Given the description of an element on the screen output the (x, y) to click on. 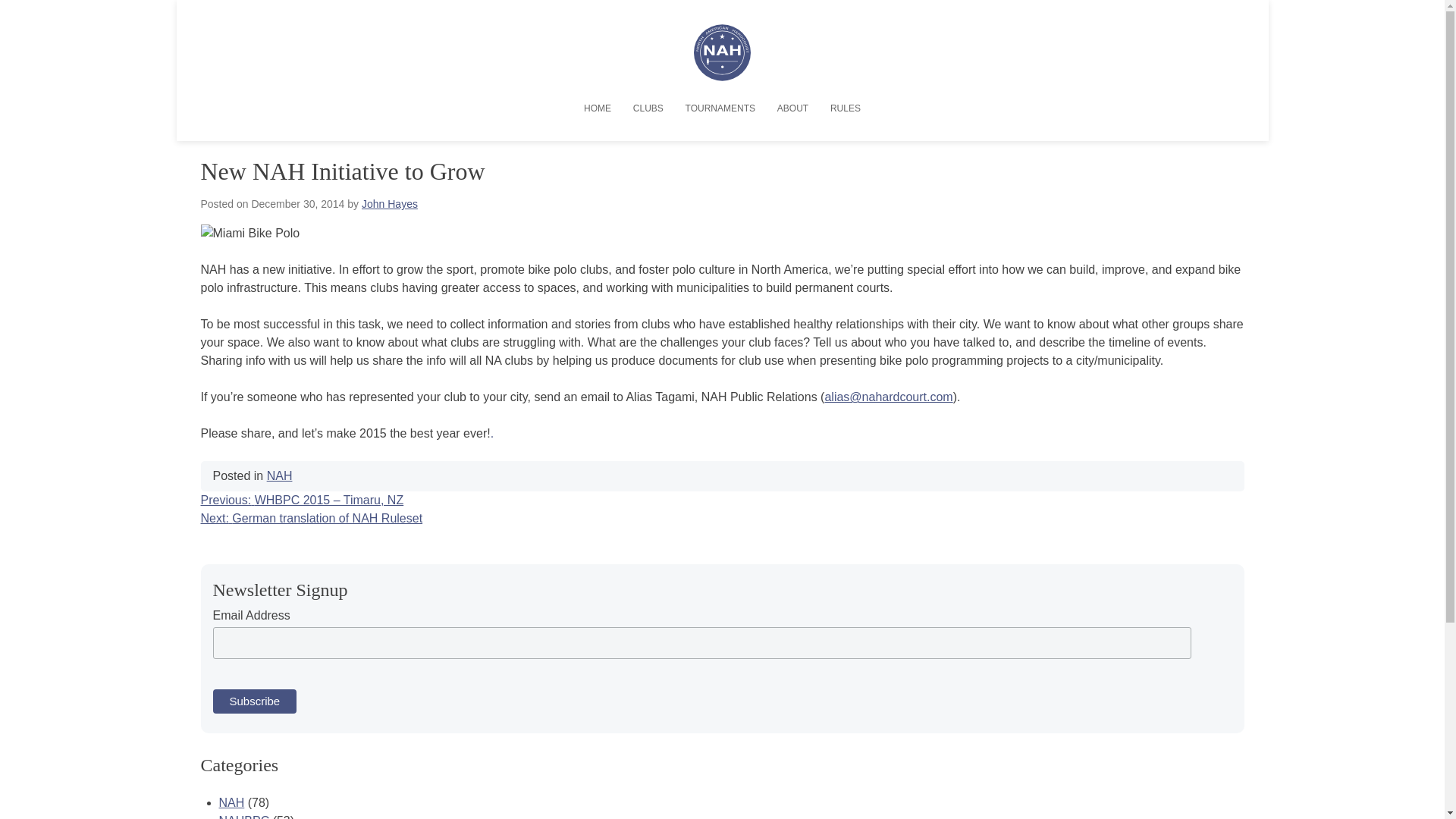
Next: German translation of NAH Ruleset (311, 517)
NAHBPA logo (722, 52)
NAH (279, 475)
TOURNAMENTS (720, 108)
NAHBPA logo (722, 76)
HOME (597, 108)
John Hayes (389, 203)
CLUBS (648, 108)
NAHBPC (243, 816)
RULES (844, 108)
